Given the description of an element on the screen output the (x, y) to click on. 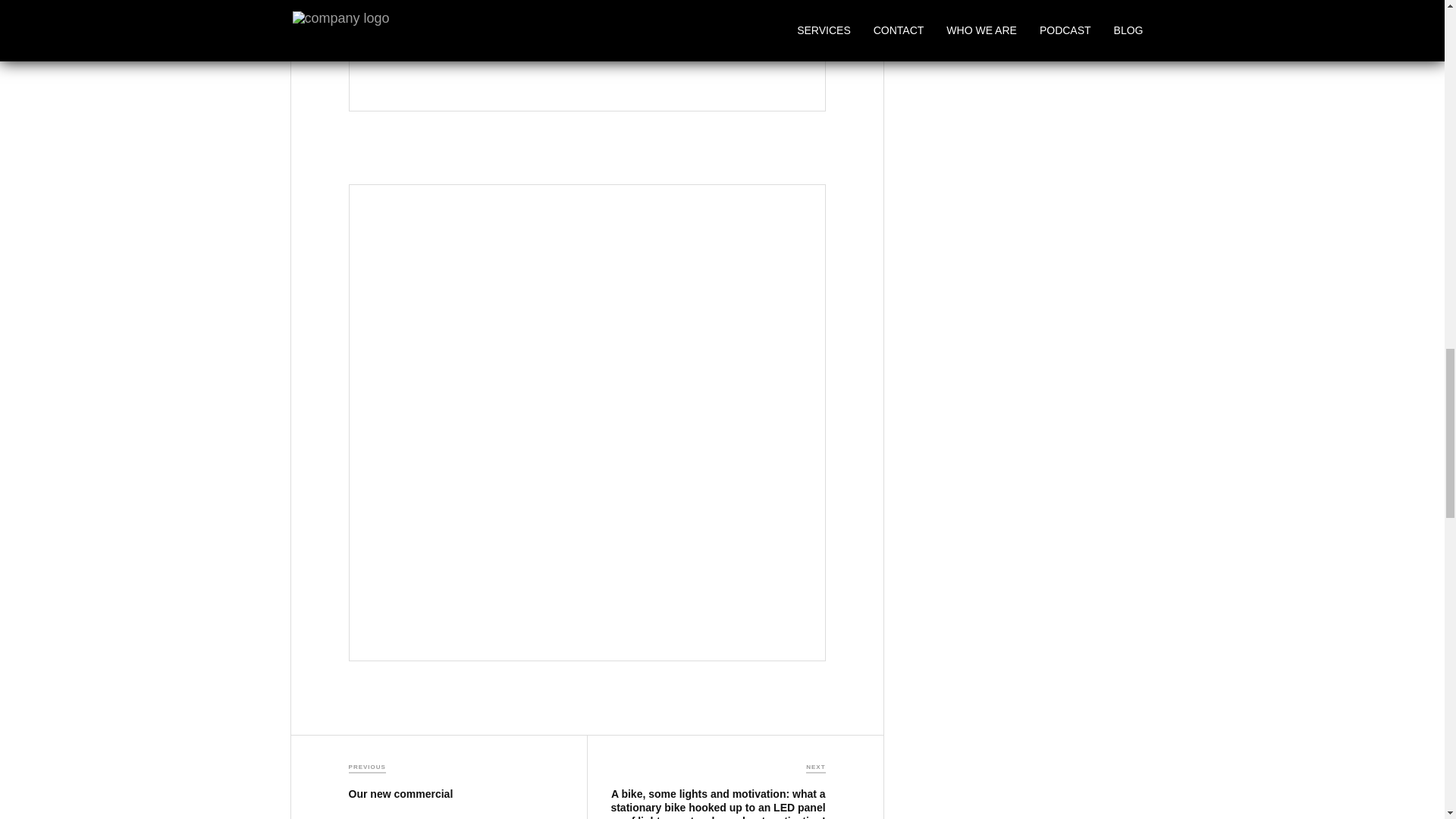
Previous post: Our new commercial (400, 793)
Our new commercial (400, 793)
